Given the description of an element on the screen output the (x, y) to click on. 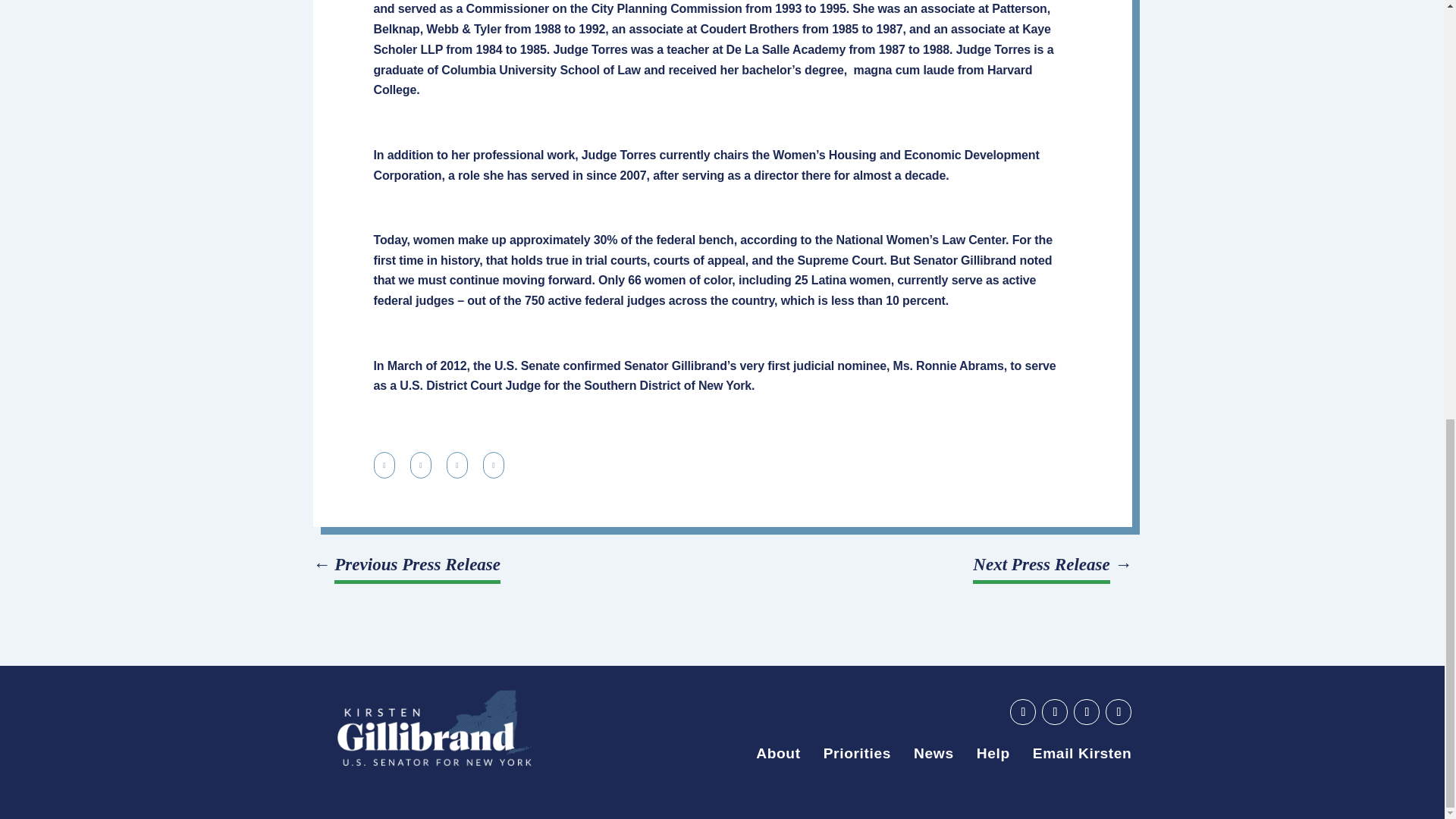
Follow on Facebook (1054, 711)
Follow on Youtube (1022, 711)
Follow on Twitter (1086, 711)
Follow on Instagram (1118, 711)
gillibrand-logo (434, 727)
